Given the description of an element on the screen output the (x, y) to click on. 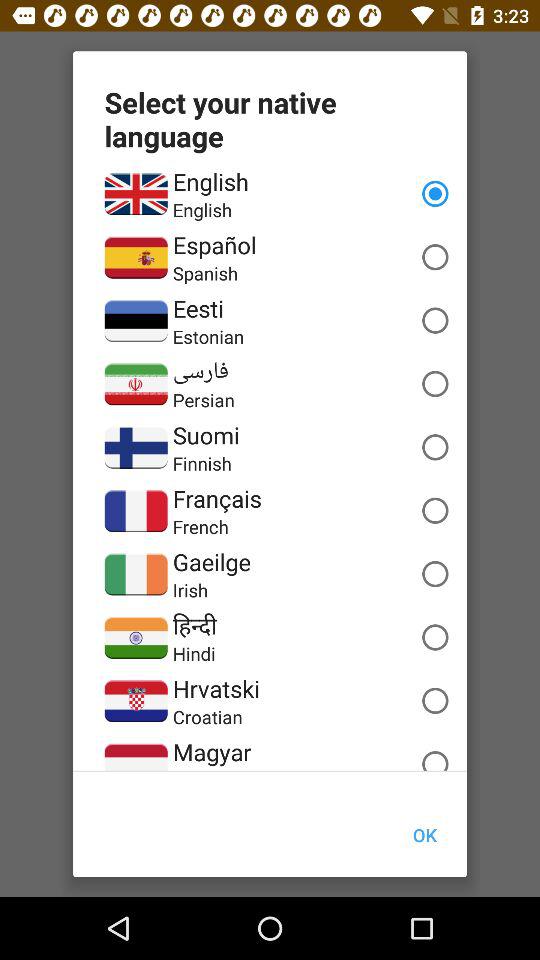
select the gaeilge icon (211, 561)
